Given the description of an element on the screen output the (x, y) to click on. 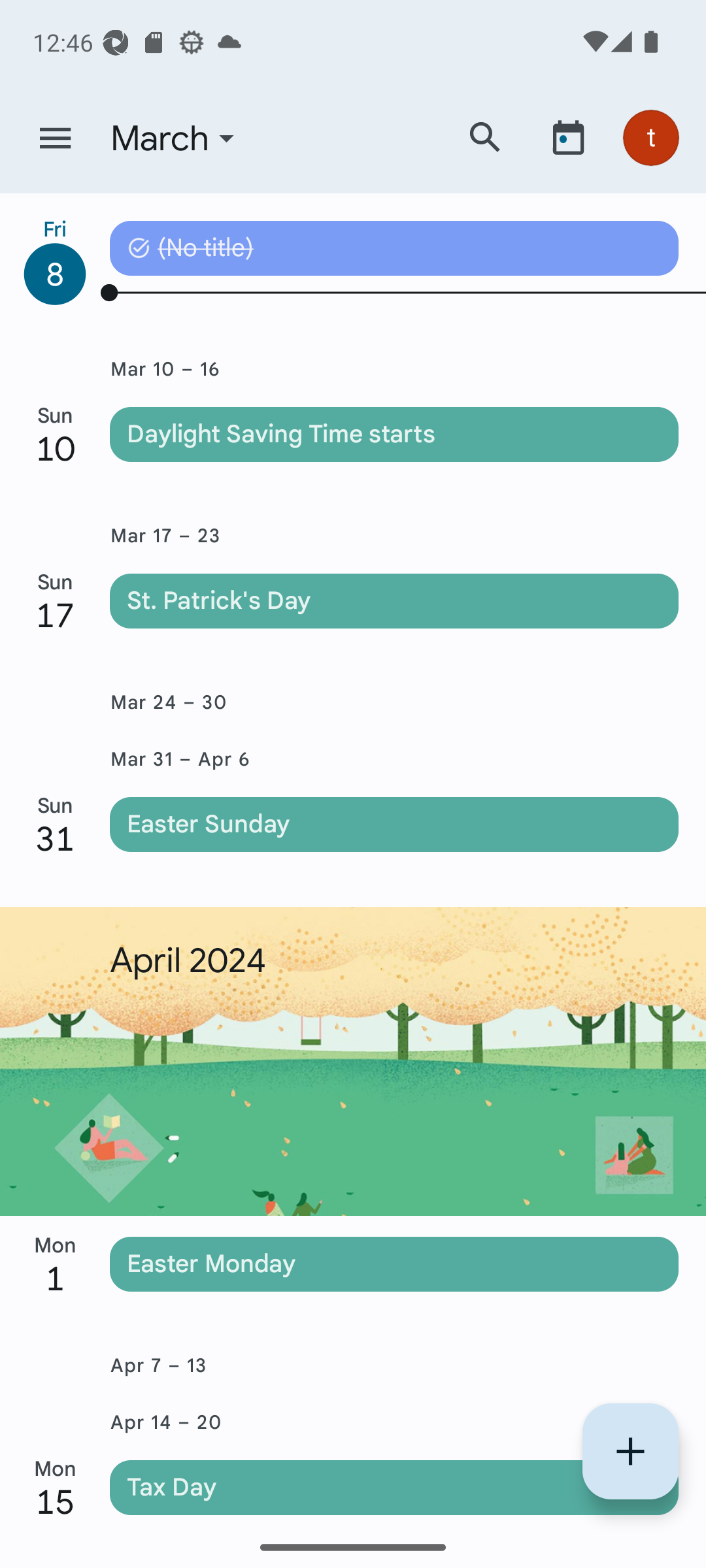
Show Calendar List and Settings drawer (55, 138)
March, Show date picker March (270, 138)
Search (485, 137)
Jump to Today (567, 137)
Create new event and more (630, 1451)
